Given the description of an element on the screen output the (x, y) to click on. 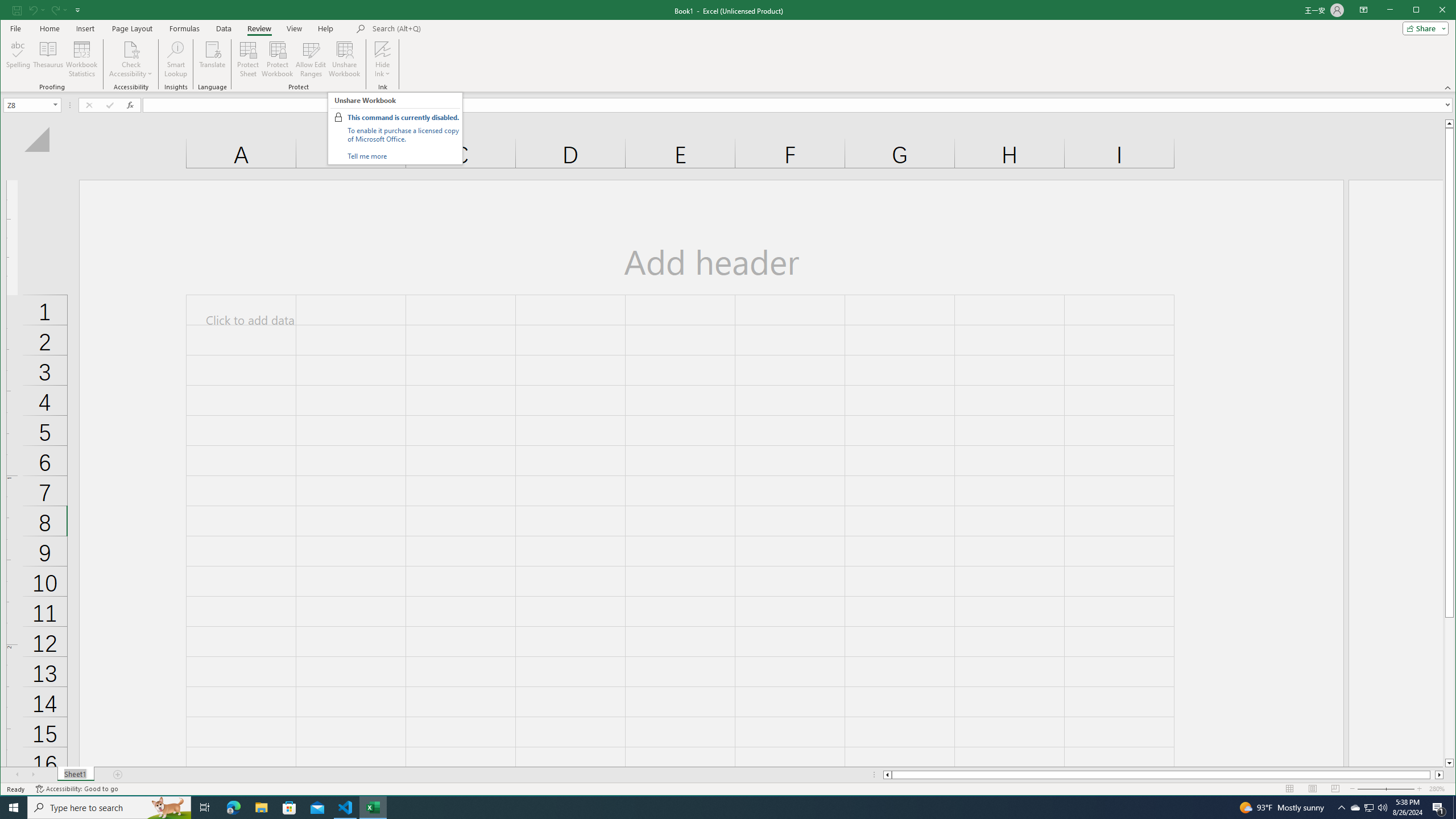
Smart Lookup (176, 59)
Allow Edit Ranges (310, 59)
Search highlights icon opens search home window (167, 807)
Q2790: 100% (1382, 807)
Task View (204, 807)
Visual Studio Code - 1 running window (345, 807)
Excel - 1 running window (373, 807)
File Explorer (261, 807)
Microsoft Store (289, 807)
